Given the description of an element on the screen output the (x, y) to click on. 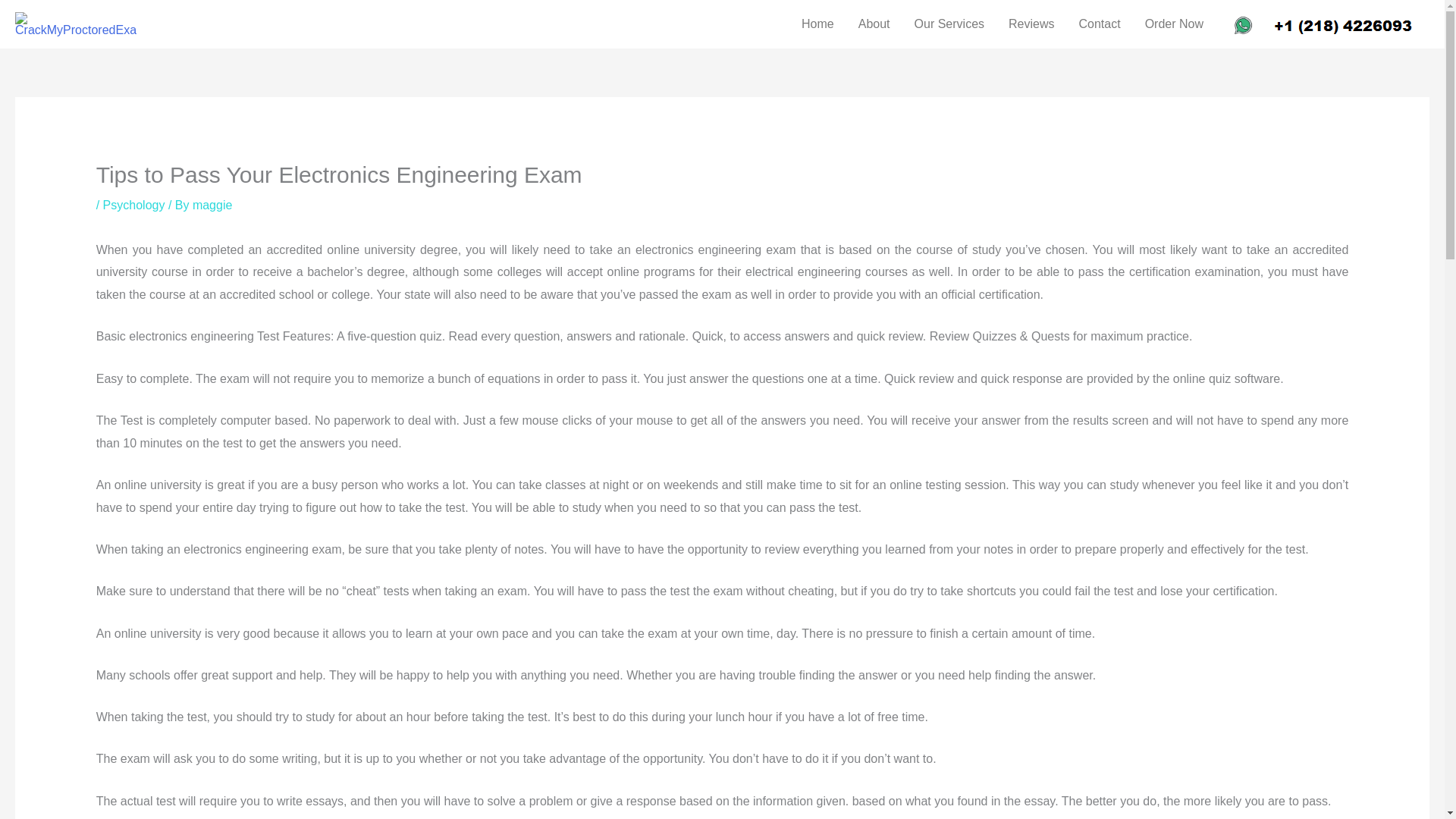
View all posts by maggie (211, 205)
Order Now (1173, 24)
About (873, 24)
Our Services (948, 24)
Psychology (134, 205)
Home (817, 24)
Contact (1098, 24)
Reviews (1030, 24)
maggie (211, 205)
